Given the description of an element on the screen output the (x, y) to click on. 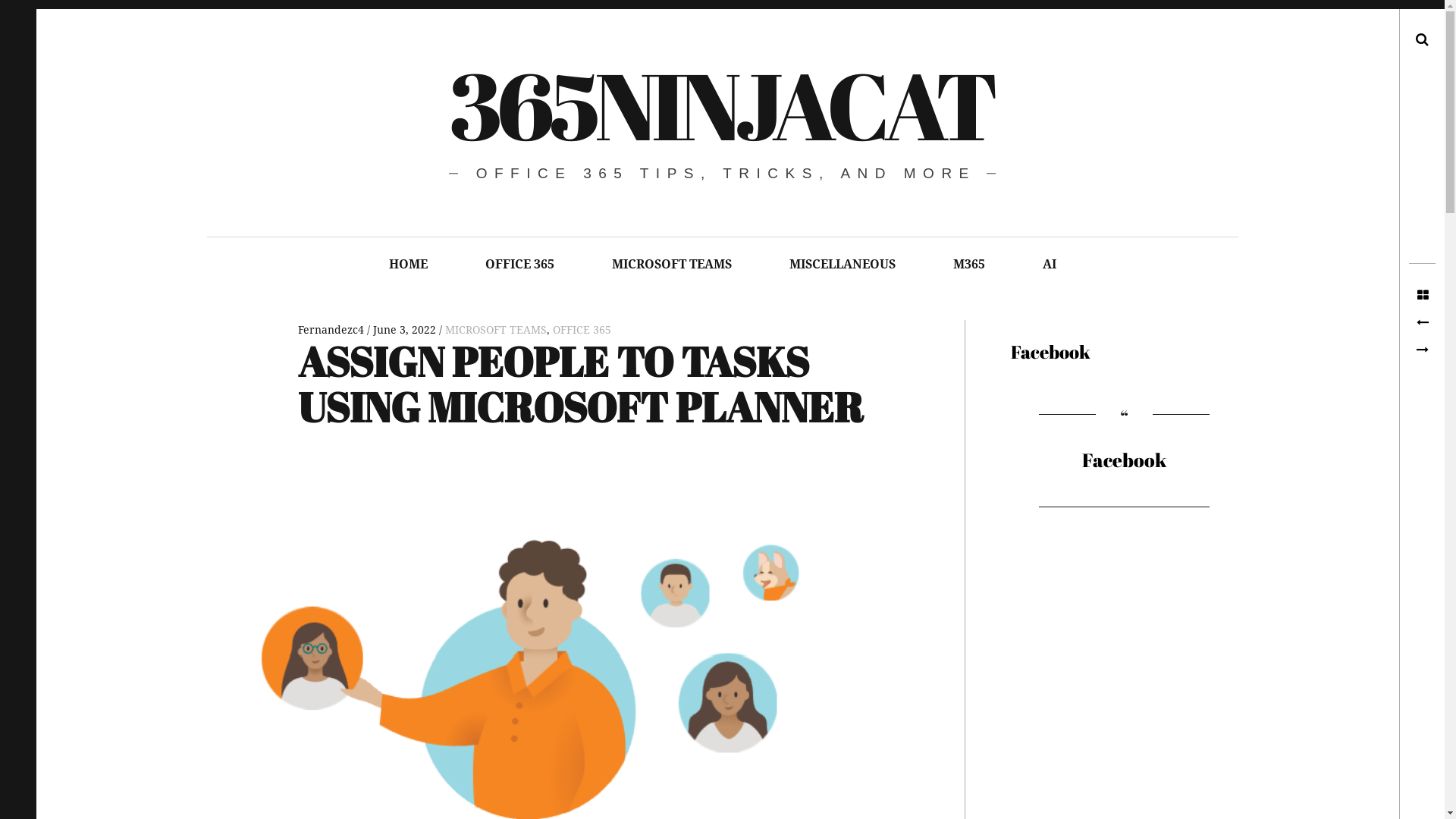
MICROSOFT TEAMS Element type: text (670, 264)
Facebook Element type: text (1049, 351)
MICROSOFT TEAMS Element type: text (495, 329)
MISCELLANEOUS Element type: text (841, 264)
AI Element type: text (1048, 264)
June 3, 2022 Element type: text (404, 329)
Search Element type: text (1376, 39)
M365 Element type: text (968, 264)
Fernandezc4 Element type: text (331, 329)
HOME Element type: text (407, 264)
OFFICE 365 Element type: text (581, 329)
365NINJACAT Element type: text (720, 104)
Facebook Element type: text (1123, 459)
Search Element type: text (22, 16)
OFFICE 365 Element type: text (519, 264)
